Given the description of an element on the screen output the (x, y) to click on. 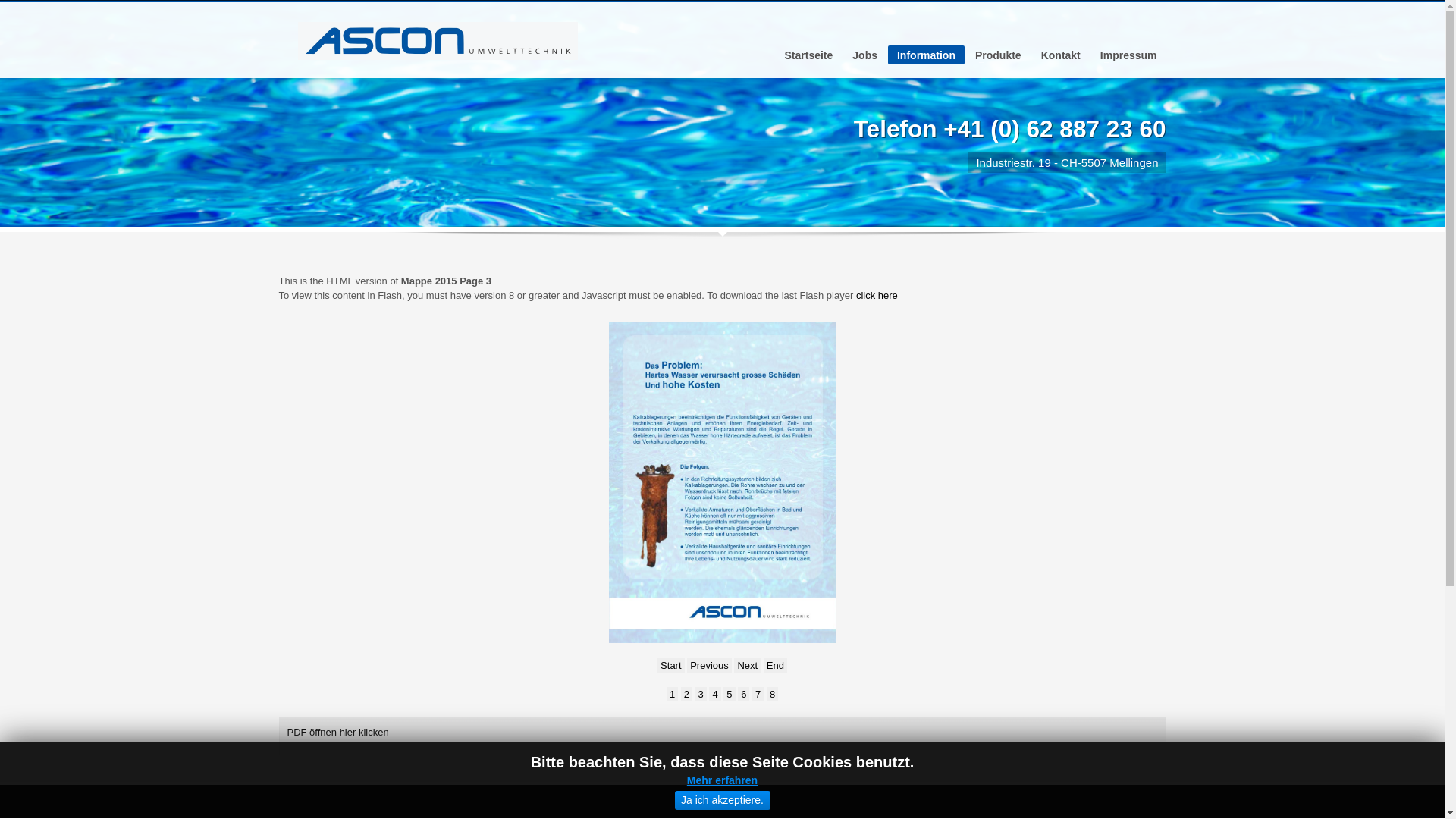
Start Element type: text (670, 665)
Ascon Umwelttechnik Element type: hover (437, 40)
click here Element type: text (876, 295)
4 Element type: text (714, 694)
Information Element type: text (926, 54)
6 Element type: text (743, 694)
Startseite Element type: text (808, 55)
Kontakt Element type: text (1060, 55)
Next Element type: text (747, 665)
End Element type: text (775, 665)
Jobs Element type: text (864, 55)
5 Element type: text (728, 694)
2 Element type: text (686, 694)
8 Element type: text (772, 694)
Previous Element type: text (709, 665)
1 Element type: text (671, 694)
7 Element type: text (757, 694)
3 Element type: text (700, 694)
